Given the description of an element on the screen output the (x, y) to click on. 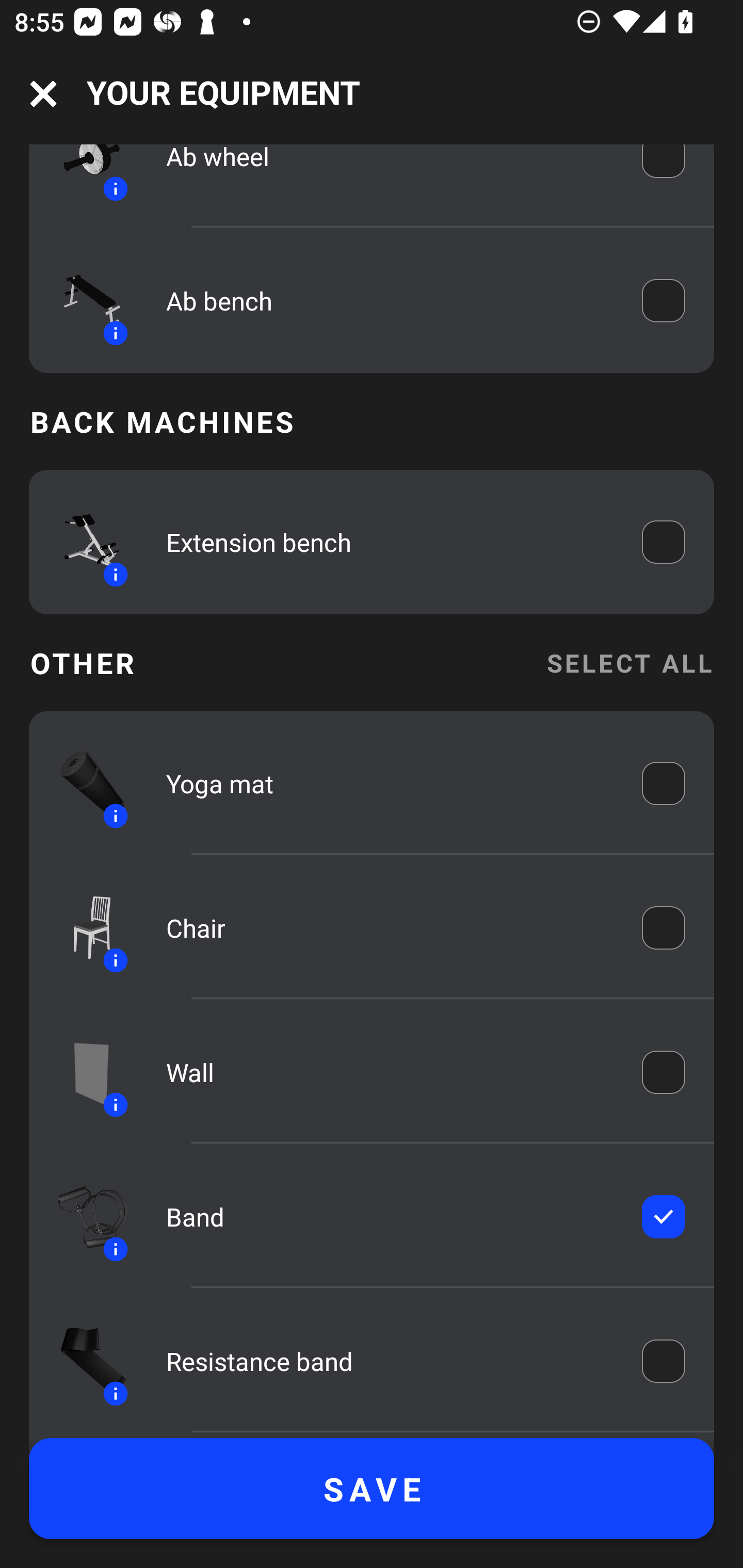
Navigation icon (43, 93)
Equipment icon Information icon (82, 177)
Ab wheel (389, 171)
Equipment icon Information icon (82, 300)
Ab bench (389, 300)
Equipment icon Information icon (82, 541)
Extension bench (389, 541)
SELECT ALL (629, 662)
Equipment icon Information icon (82, 783)
Yoga mat (389, 783)
Equipment icon Information icon (82, 927)
Chair (389, 927)
Equipment icon Information icon (82, 1071)
Wall (389, 1072)
Equipment icon Information icon (82, 1216)
Band (389, 1216)
Equipment icon Information icon (82, 1361)
Resistance band (389, 1360)
SAVE (371, 1488)
